Given the description of an element on the screen output the (x, y) to click on. 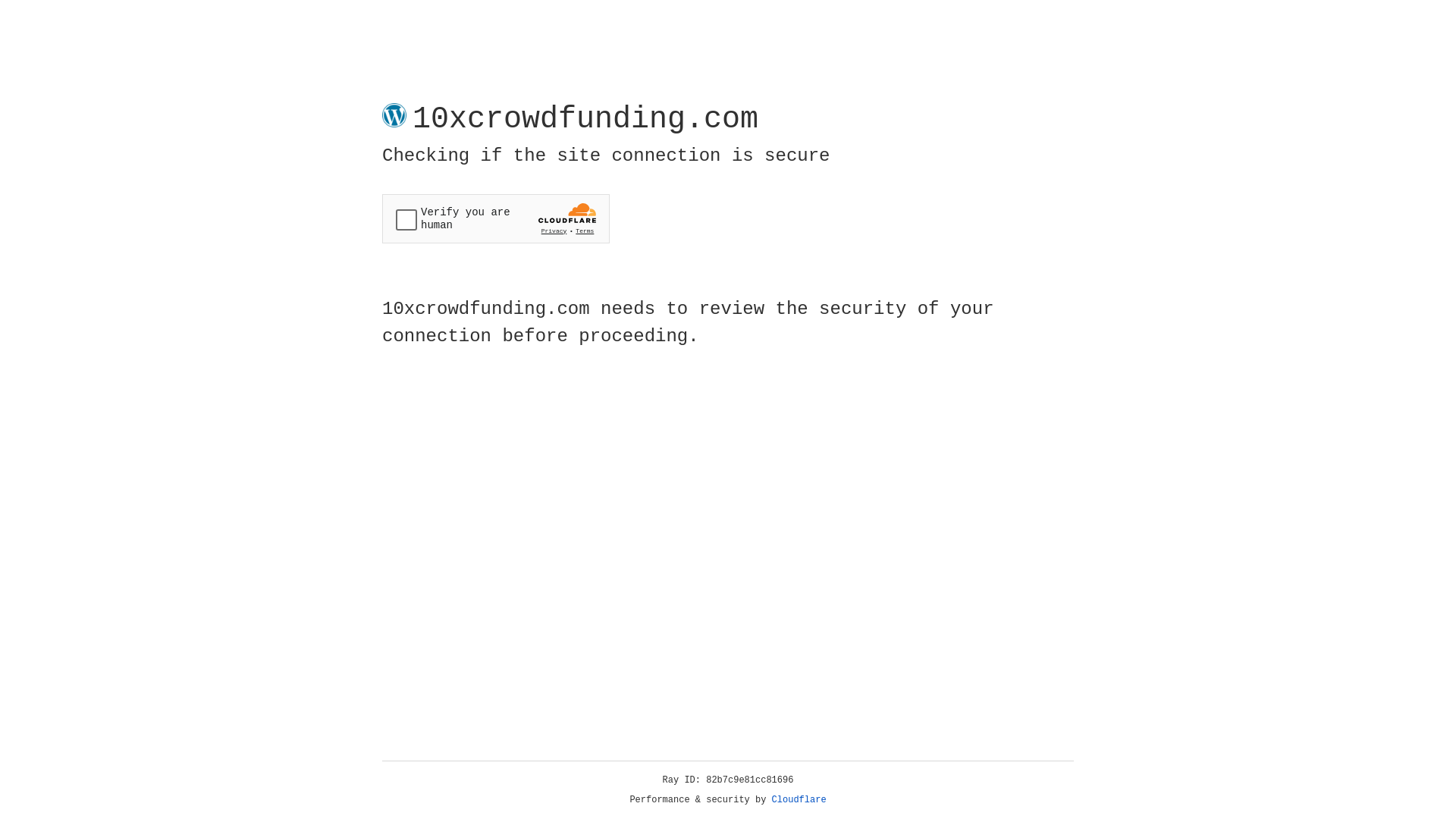
Cloudflare Element type: text (798, 799)
Widget containing a Cloudflare security challenge Element type: hover (495, 218)
